Given the description of an element on the screen output the (x, y) to click on. 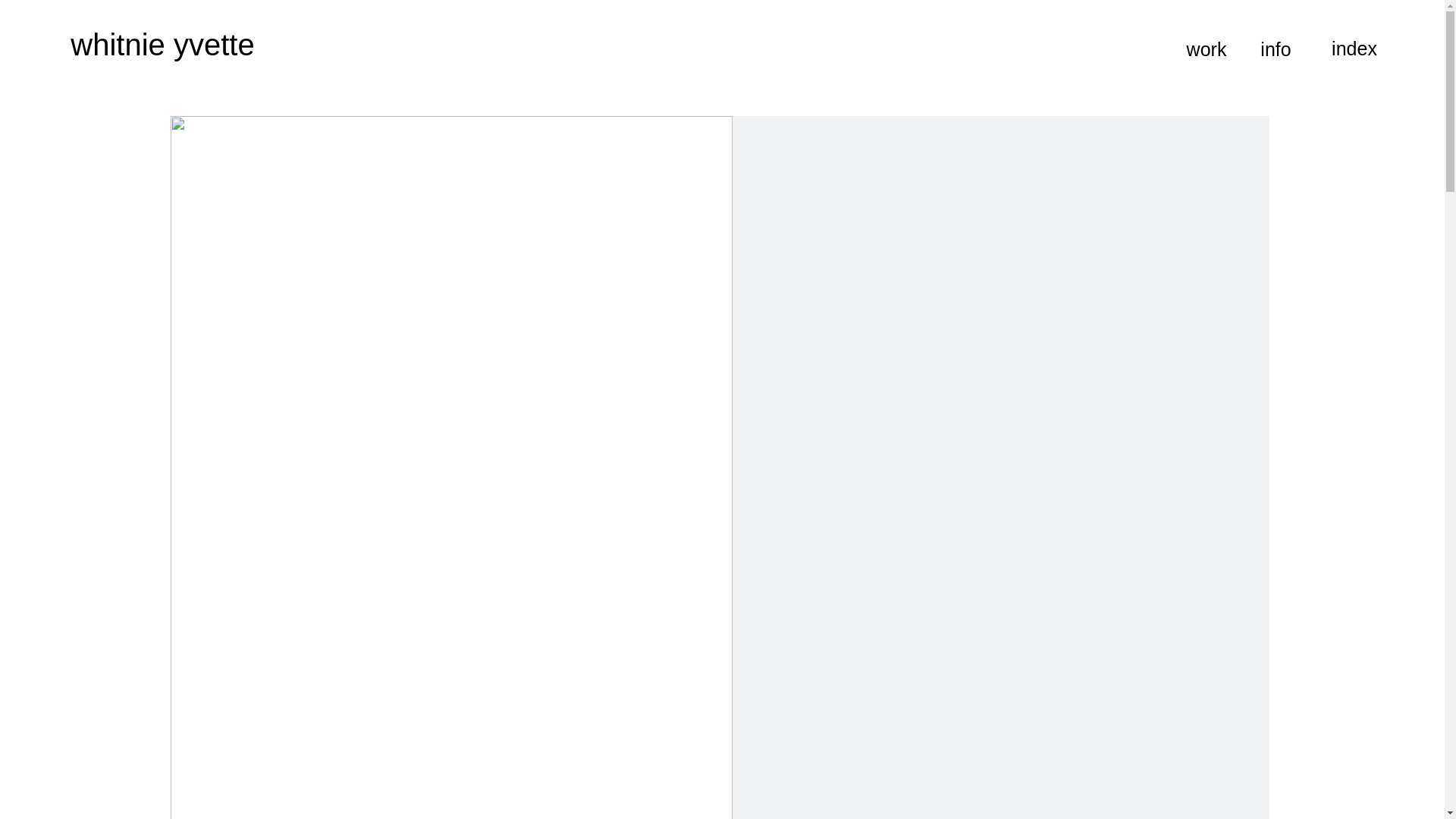
work (1206, 49)
whitnie yvette (162, 44)
index (1354, 48)
info (1276, 49)
